Given the description of an element on the screen output the (x, y) to click on. 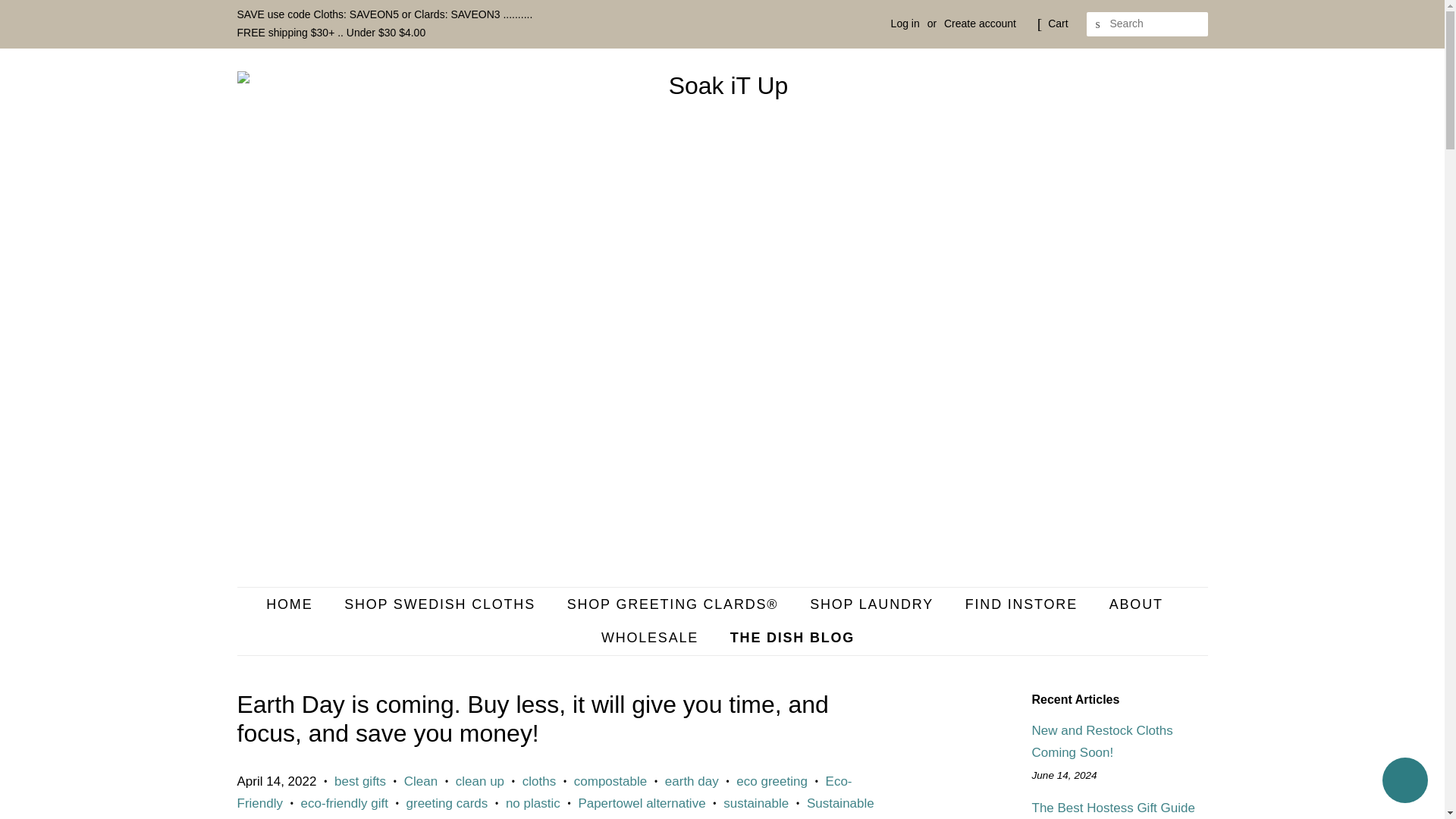
Clean (421, 780)
FIND INSTORE (1023, 604)
compostable (609, 780)
eco-friendly gift (344, 803)
cloths (539, 780)
no plastic (532, 803)
greeting cards (446, 803)
SHOP LAUNDRY (873, 604)
THE DISH BLOG (786, 637)
best gifts (359, 780)
eco greeting (772, 780)
Create account (979, 23)
clean up (479, 780)
Log in (905, 23)
earth day (692, 780)
